Given the description of an element on the screen output the (x, y) to click on. 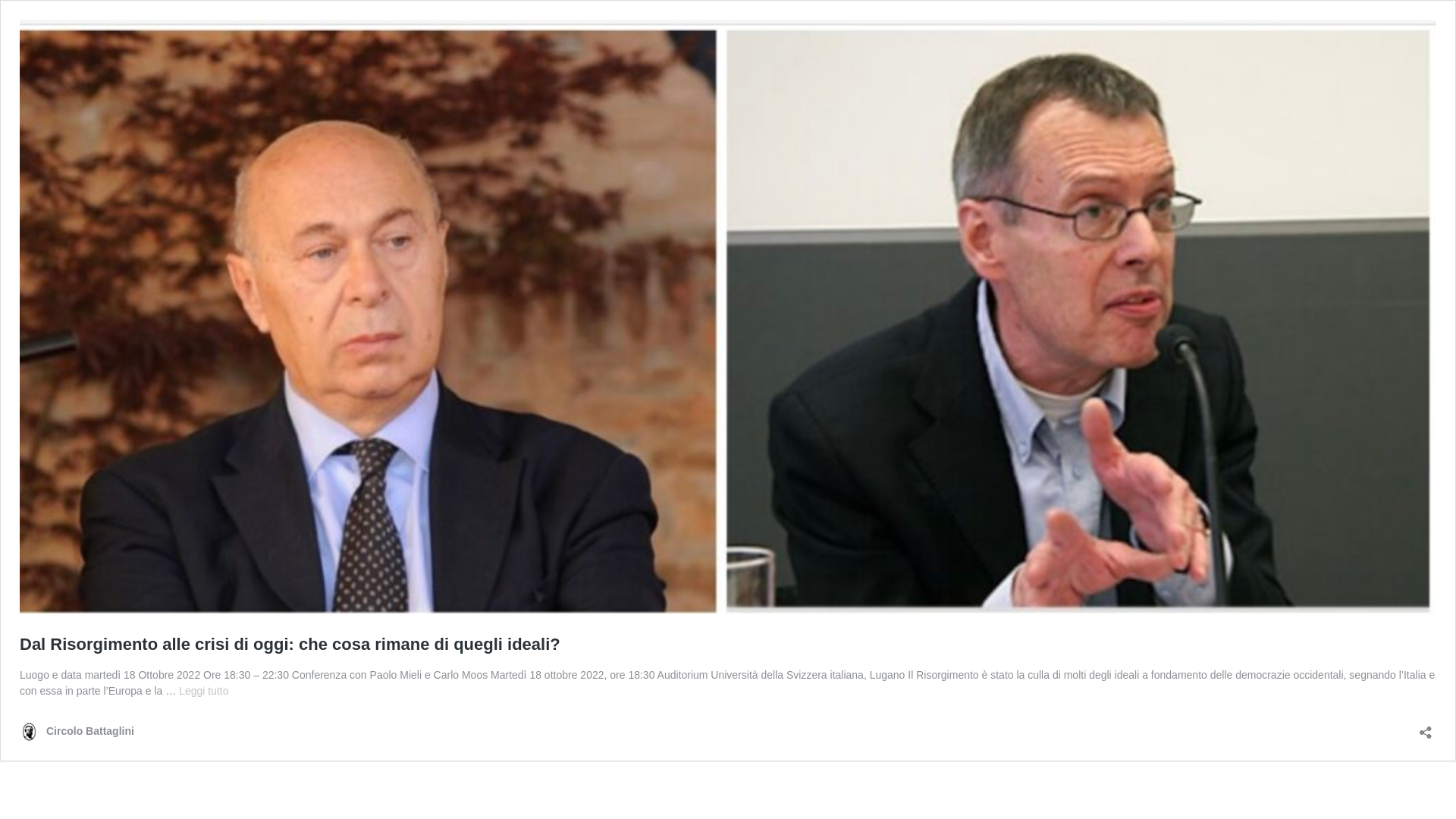
Circolo Battaglini Element type: text (76, 730)
